Given the description of an element on the screen output the (x, y) to click on. 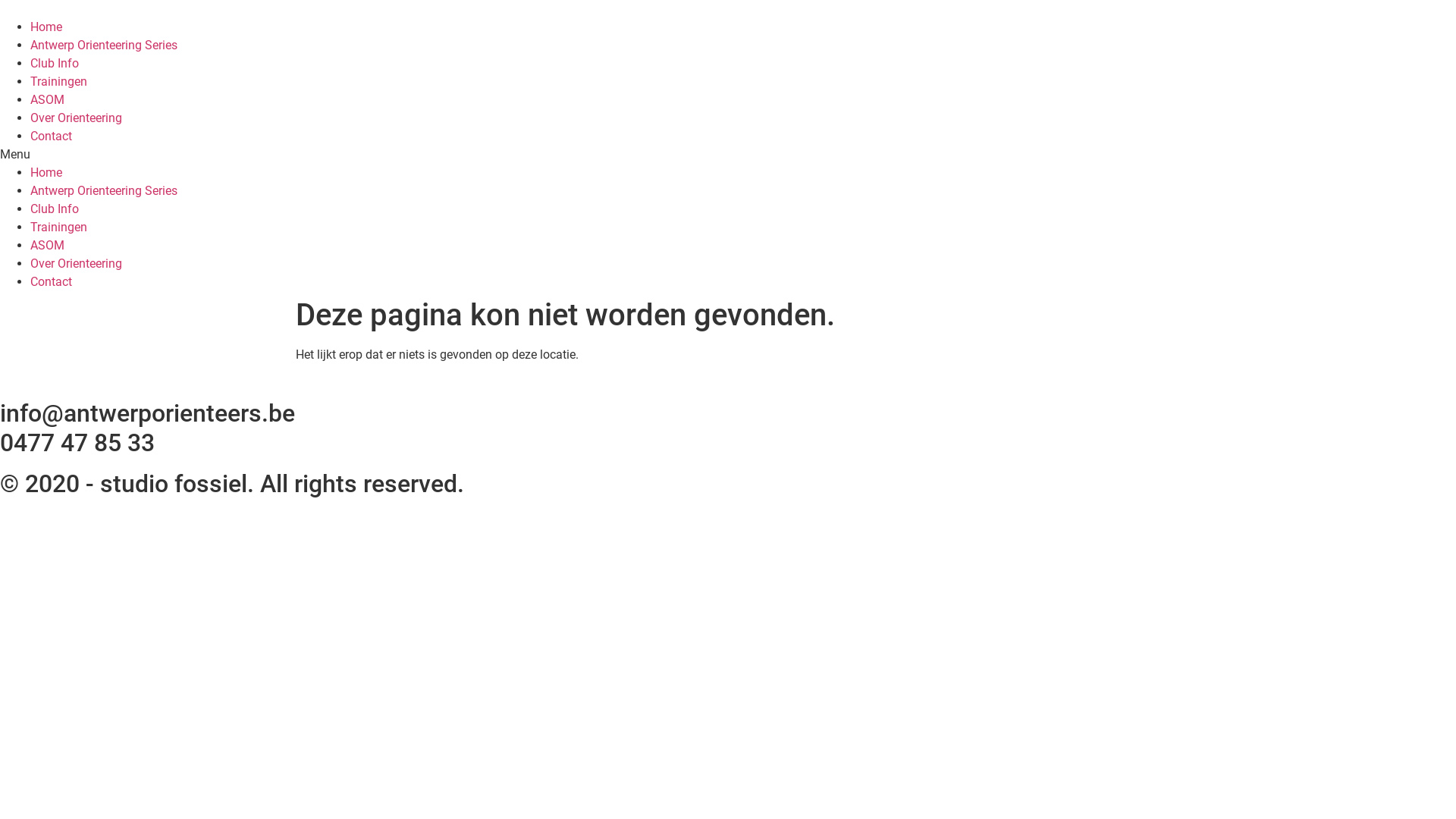
Over Orienteering Element type: text (76, 117)
Over Orienteering Element type: text (76, 263)
Home Element type: text (46, 26)
Trainingen Element type: text (58, 81)
Contact Element type: text (51, 281)
Club Info Element type: text (54, 63)
Home Element type: text (46, 172)
ASOM Element type: text (47, 99)
Club Info Element type: text (54, 208)
ASOM Element type: text (47, 245)
Contact Element type: text (51, 135)
Antwerp Orienteering Series Element type: text (103, 190)
Trainingen Element type: text (58, 226)
Antwerp Orienteering Series Element type: text (103, 44)
